Given the description of an element on the screen output the (x, y) to click on. 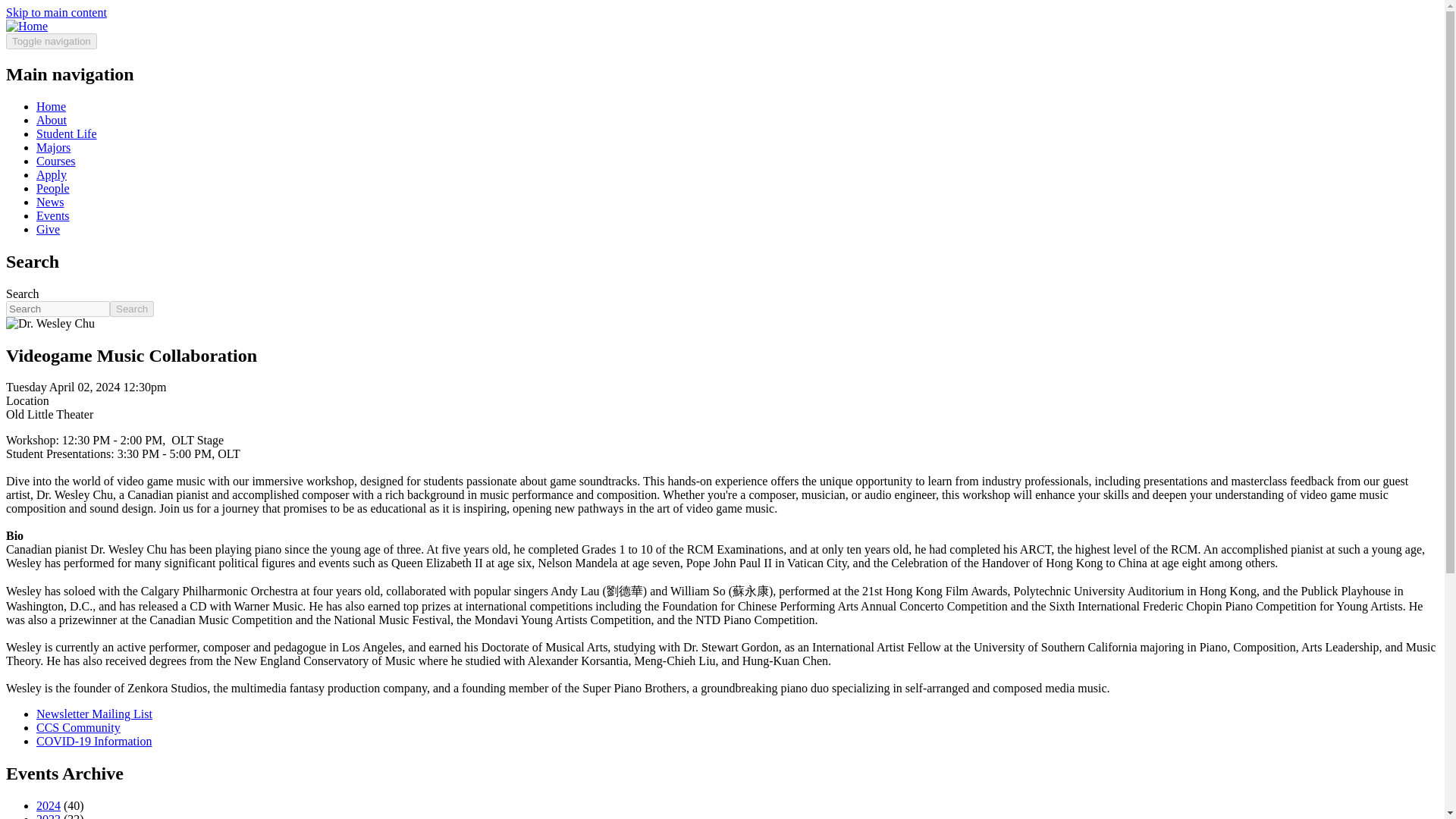
Home (50, 106)
Events (52, 215)
Newsletter Mailing List (94, 713)
Home (26, 25)
2023 (48, 816)
Majors (52, 146)
About (51, 119)
Enter the terms you wish to search for. (57, 308)
COVID-19 Information (93, 740)
News (50, 201)
Give (47, 228)
People (52, 187)
2024 (48, 805)
CCS Community (78, 727)
Courses (55, 160)
